Given the description of an element on the screen output the (x, y) to click on. 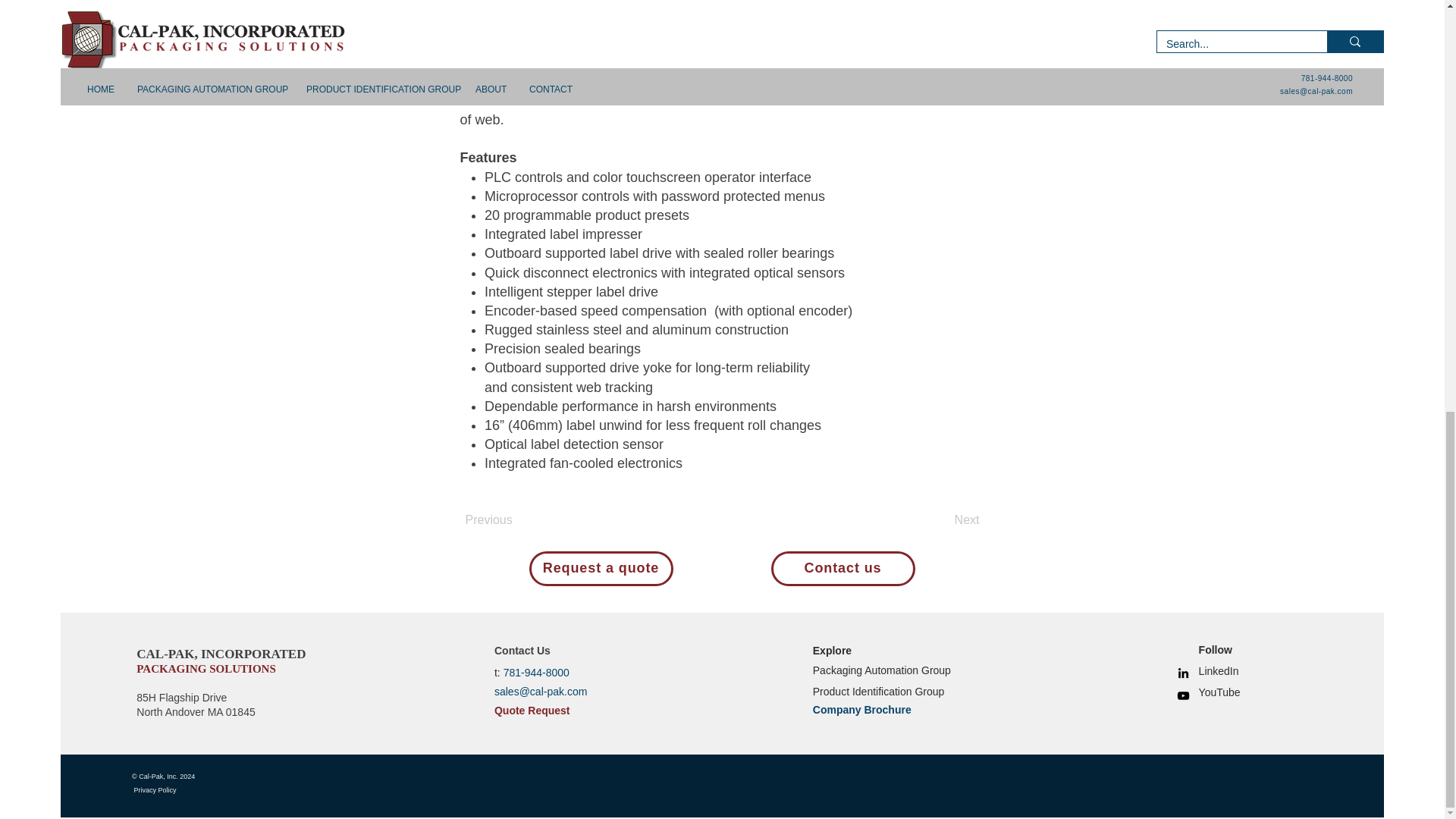
Request a quote (600, 568)
Previous (515, 521)
Quote Request (532, 710)
Next (941, 521)
Company Brochure (861, 709)
PACKAGING SOLUTIONS (206, 667)
Contact Us (522, 650)
North Andover MA 01845 (195, 711)
781-944-8000 (536, 672)
Contact us (842, 568)
85H Flagship Drive (181, 697)
Packaging Automation Group (881, 670)
CAL-PAK, INCORPORATED (220, 653)
Product Identification Group (878, 689)
